Given the description of an element on the screen output the (x, y) to click on. 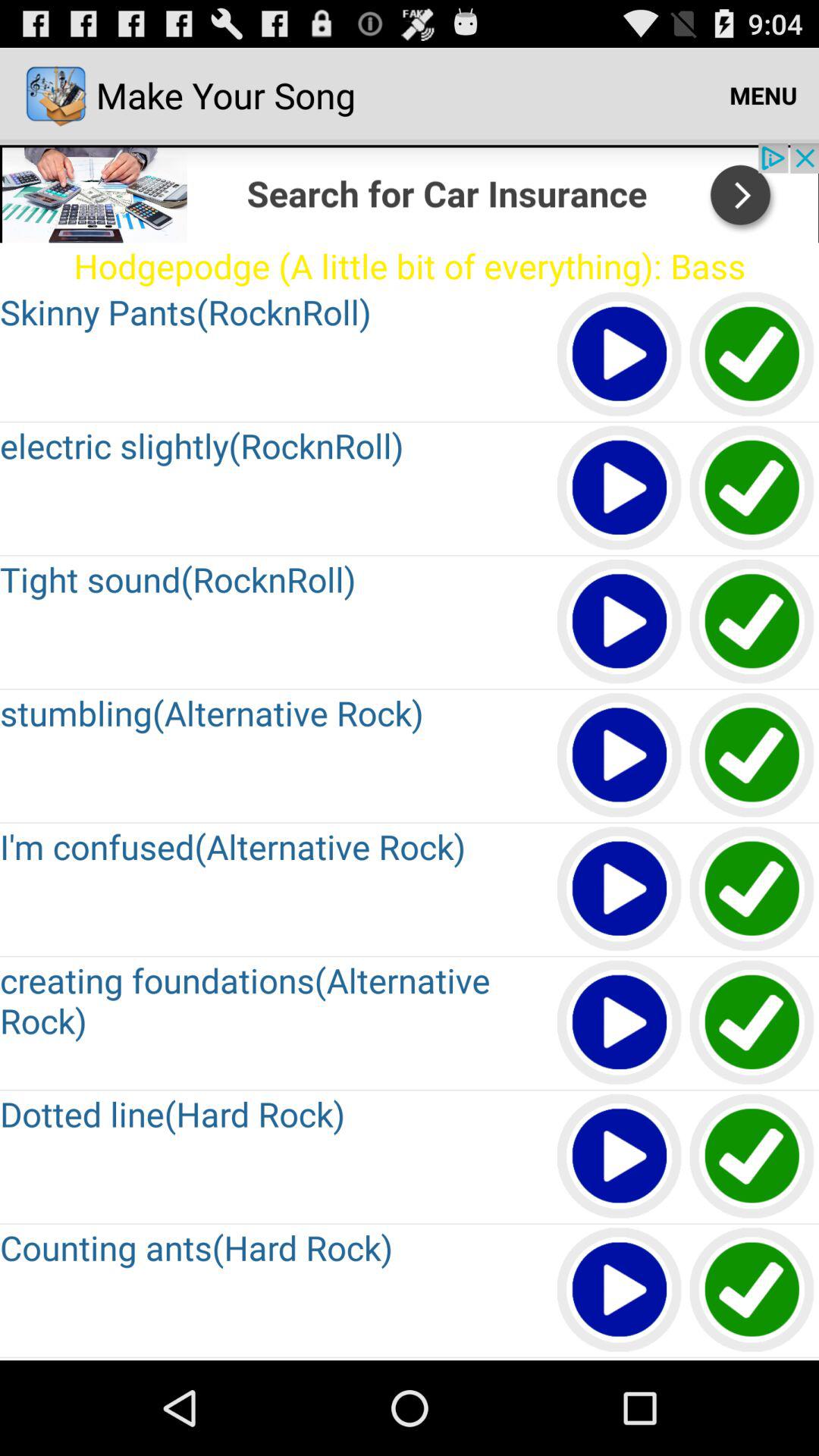
play the media file (619, 622)
